Given the description of an element on the screen output the (x, y) to click on. 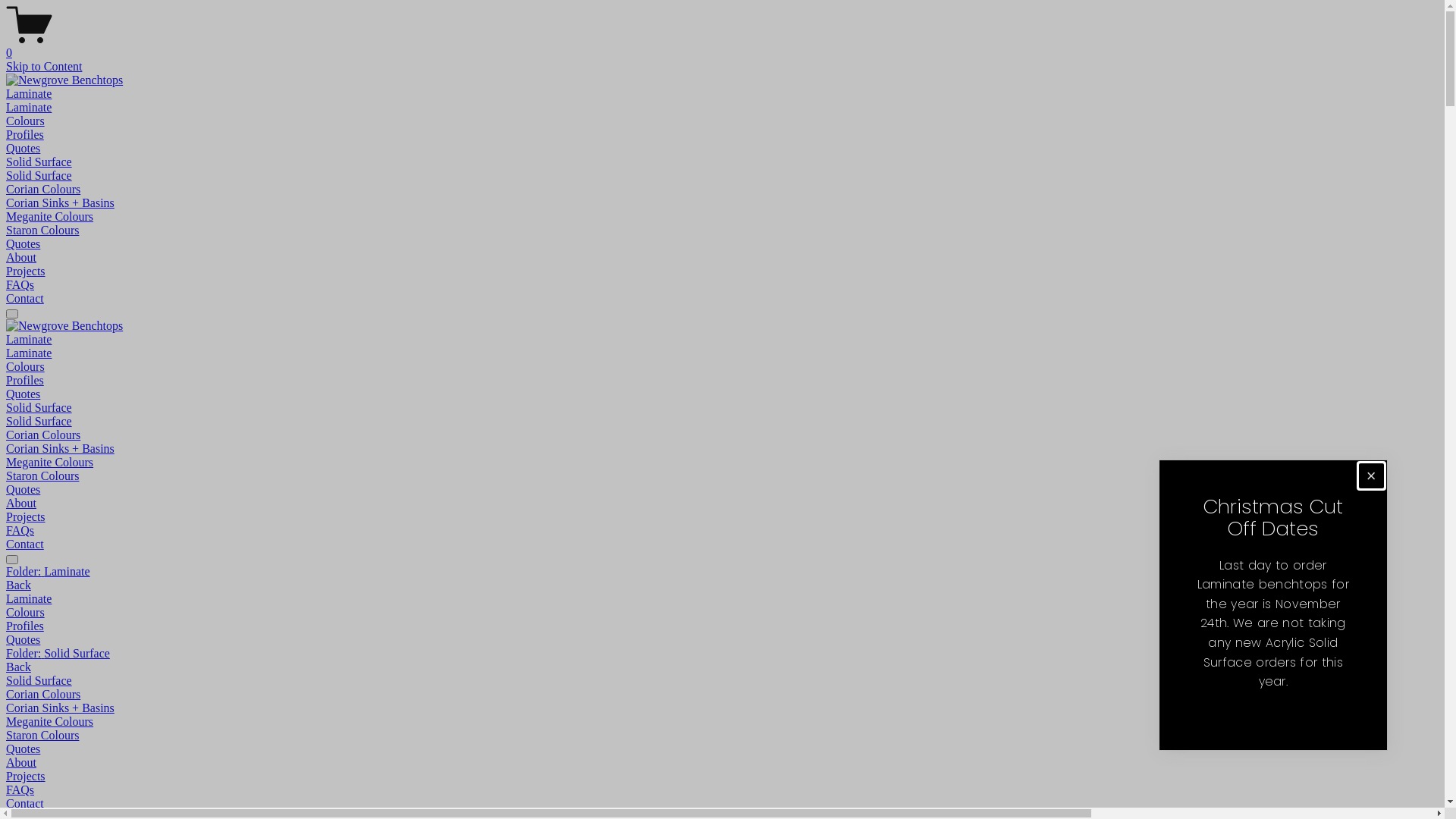
Laminate Element type: text (722, 598)
Folder: Laminate Element type: text (722, 571)
Quotes Element type: text (23, 393)
Corian Colours Element type: text (722, 694)
Projects Element type: text (25, 516)
Quotes Element type: text (722, 749)
Profiles Element type: text (722, 626)
Projects Element type: text (722, 776)
Back Element type: text (18, 666)
Solid Surface Element type: text (39, 175)
Quotes Element type: text (722, 639)
Contact Element type: text (24, 297)
Laminate Element type: text (28, 93)
Colours Element type: text (25, 366)
Solid Surface Element type: text (722, 680)
Solid Surface Element type: text (39, 407)
Meganite Colours Element type: text (49, 461)
Staron Colours Element type: text (722, 735)
Staron Colours Element type: text (42, 475)
Corian Colours Element type: text (43, 434)
Contact Element type: text (722, 803)
FAQs Element type: text (722, 790)
About Element type: text (21, 502)
Corian Sinks + Basins Element type: text (60, 202)
FAQs Element type: text (20, 530)
0 Element type: text (722, 45)
Solid Surface Element type: text (39, 161)
Contact Element type: text (24, 543)
FAQs Element type: text (20, 284)
Back Element type: text (18, 584)
Laminate Element type: text (28, 338)
Staron Colours Element type: text (42, 229)
Colours Element type: text (722, 612)
Colours Element type: text (25, 120)
About Element type: text (722, 762)
Quotes Element type: text (23, 489)
Projects Element type: text (25, 270)
About Element type: text (21, 257)
Skip to Content Element type: text (43, 65)
Laminate Element type: text (28, 106)
Corian Sinks + Basins Element type: text (722, 708)
Quotes Element type: text (23, 243)
Corian Sinks + Basins Element type: text (60, 448)
Folder: Solid Surface Element type: text (722, 653)
Profiles Element type: text (24, 134)
Meganite Colours Element type: text (49, 216)
Profiles Element type: text (24, 379)
Solid Surface Element type: text (39, 420)
Laminate Element type: text (28, 352)
Meganite Colours Element type: text (722, 721)
Quotes Element type: text (23, 147)
Corian Colours Element type: text (43, 188)
